Given the description of an element on the screen output the (x, y) to click on. 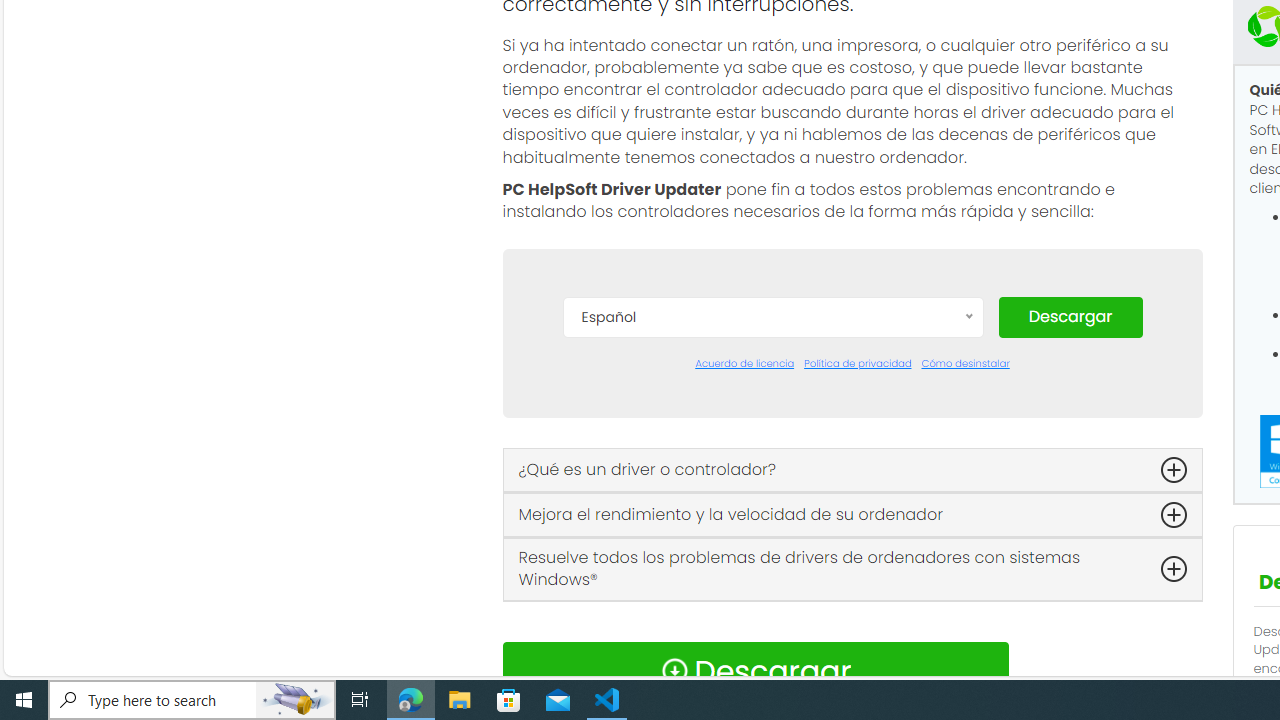
Download Icon (674, 670)
Italiano (772, 591)
Download Icon Descargar (754, 670)
English (772, 501)
Norsk (772, 652)
Descargar (1070, 316)
Deutsch (772, 472)
Dansk (772, 411)
Acuerdo de licencia (744, 363)
